Given the description of an element on the screen output the (x, y) to click on. 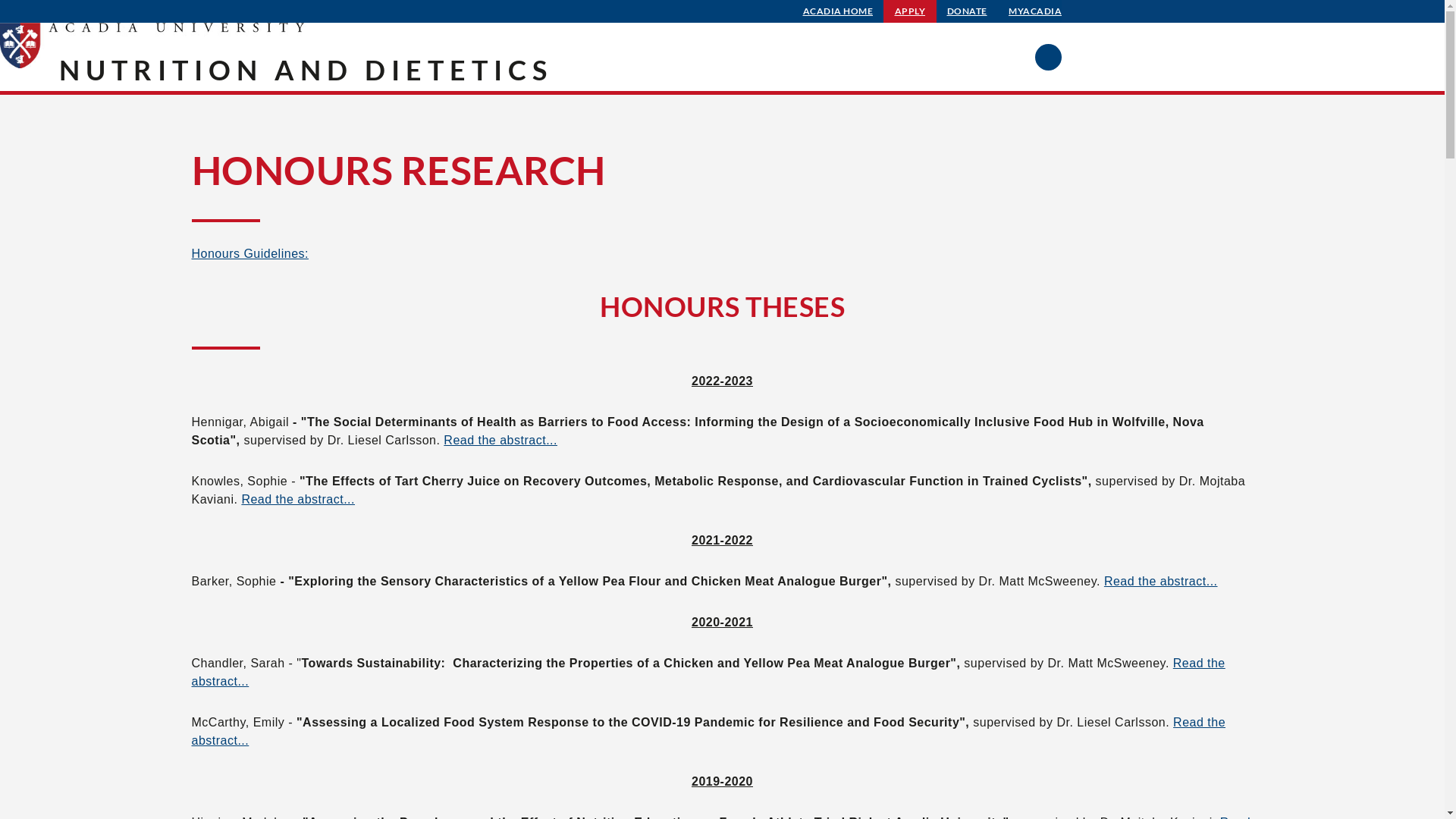
DONATE Element type: text (966, 11)
ACADIA HOME Element type: text (837, 11)
Read the abstract... Element type: text (708, 730)
Read the abstract... Element type: text (707, 671)
APPLY Element type: text (909, 11)
Read the abstract... Element type: text (297, 498)
Read the abstract... Element type: text (1160, 580)
Read the abstract... Element type: text (500, 439)
Honours Guidelines: Element type: text (249, 253)
NUTRITION AND DIETETICS Element type: text (305, 69)
MYACADIA Element type: text (1035, 11)
